Given the description of an element on the screen output the (x, y) to click on. 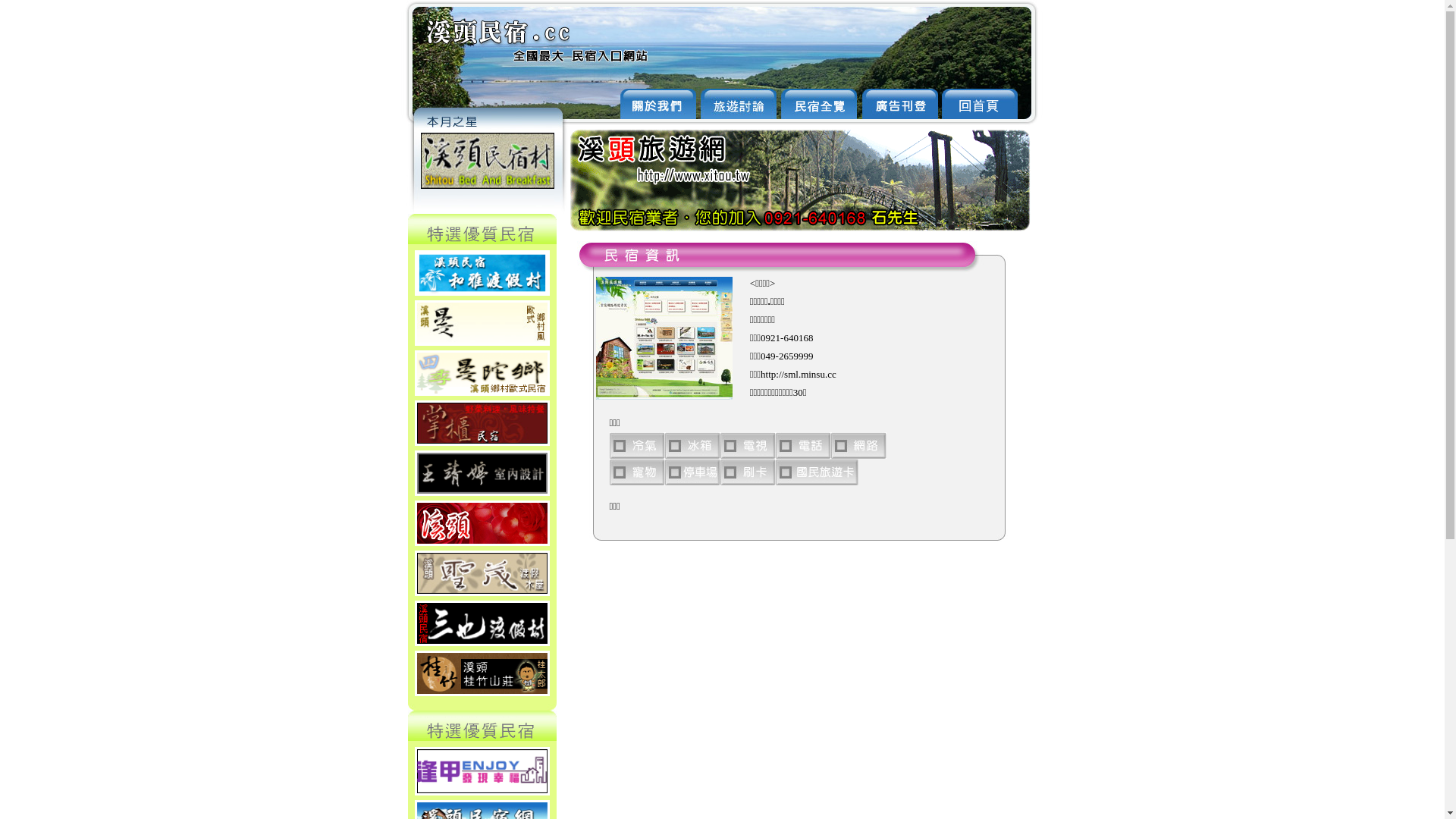
http://sml.minsu.cc Element type: text (798, 373)
